Given the description of an element on the screen output the (x, y) to click on. 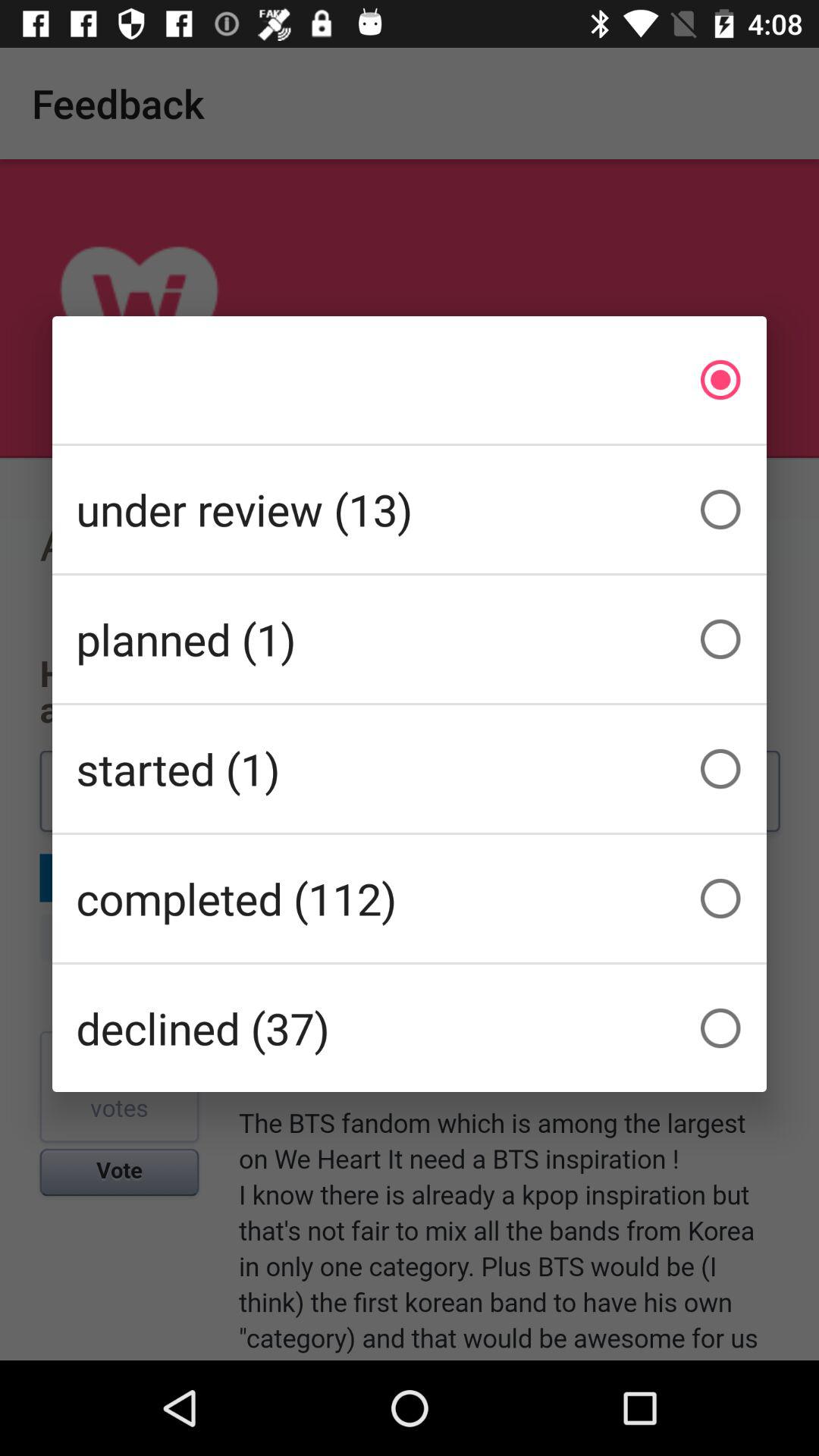
turn off the item above started (1) item (409, 638)
